Given the description of an element on the screen output the (x, y) to click on. 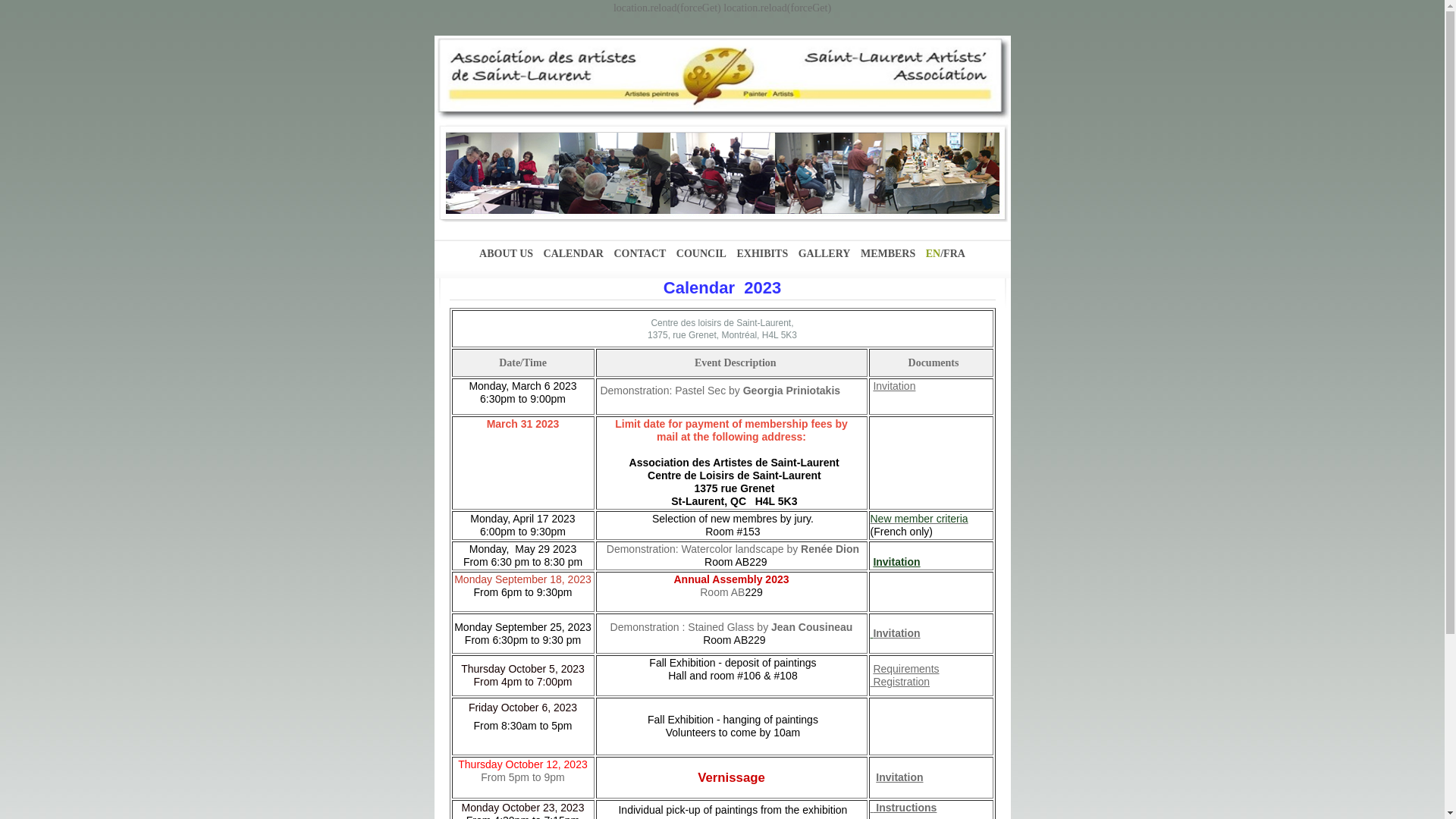
  Element type: text (871, 633)
GALLERY Element type: text (824, 253)
/FRA Element type: text (952, 253)
COUNCIL Element type: text (701, 253)
New member criteria Element type: text (919, 518)
EXHIBITS Element type: text (761, 253)
Return To Homepage Element type: hover (721, 77)
MEMBERS Element type: text (887, 253)
CALENDAR Element type: text (573, 253)
CONTACT Element type: text (639, 253)
Invitation Element type: text (895, 561)
ABOUT US Element type: text (506, 253)
